Given the description of an element on the screen output the (x, y) to click on. 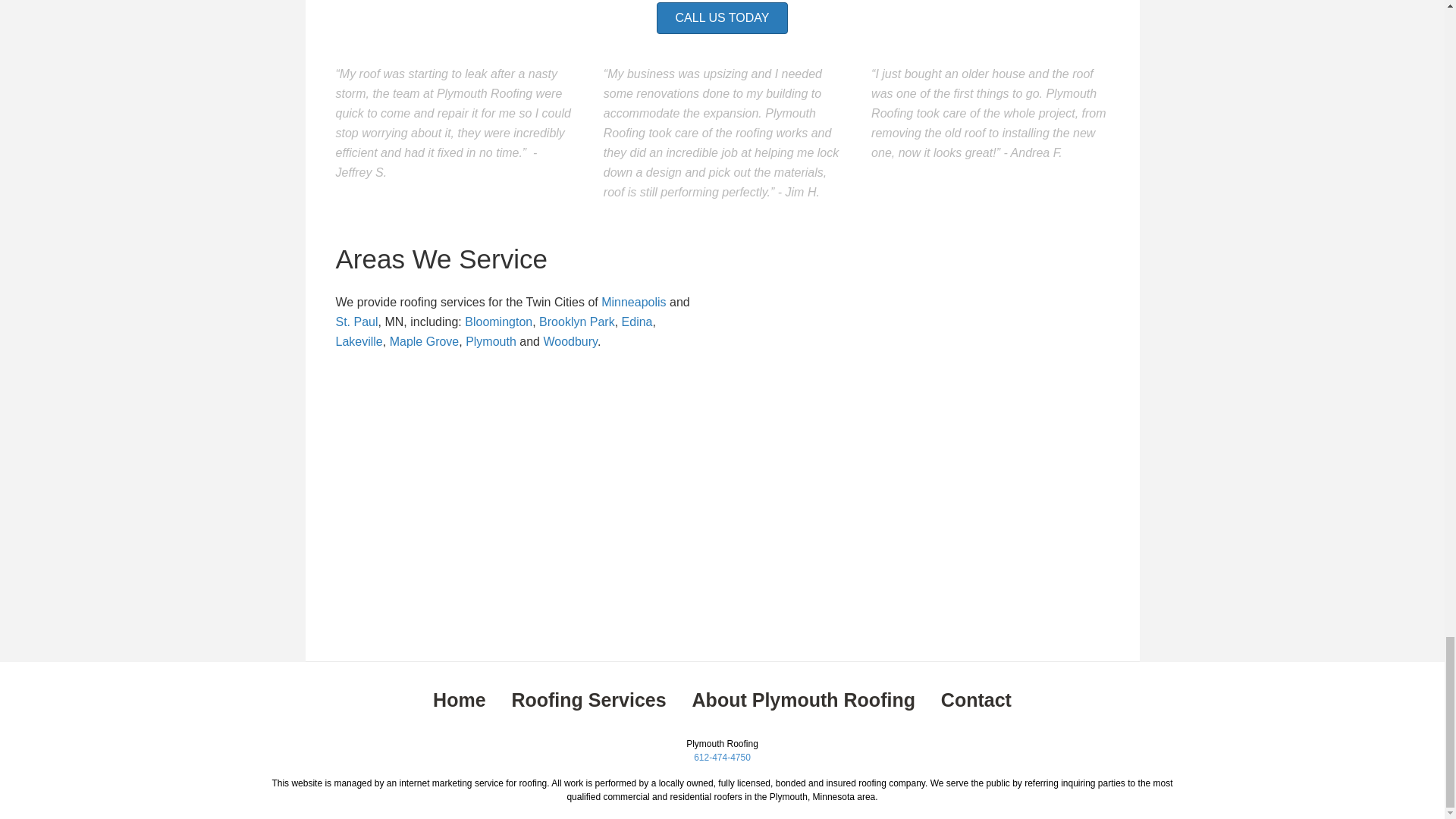
Maple Grove (425, 341)
St. Paul (355, 321)
Edina (636, 321)
Plymouth (490, 341)
612-474-4750 (722, 757)
Lakeville (357, 341)
Minneapolis (633, 301)
Woodbury (569, 341)
Roofing Services (588, 699)
Contact (975, 699)
Bloomington (498, 321)
CALL US TODAY (722, 18)
About Plymouth Roofing (804, 699)
Home (458, 699)
Brooklyn Park (576, 321)
